Given the description of an element on the screen output the (x, y) to click on. 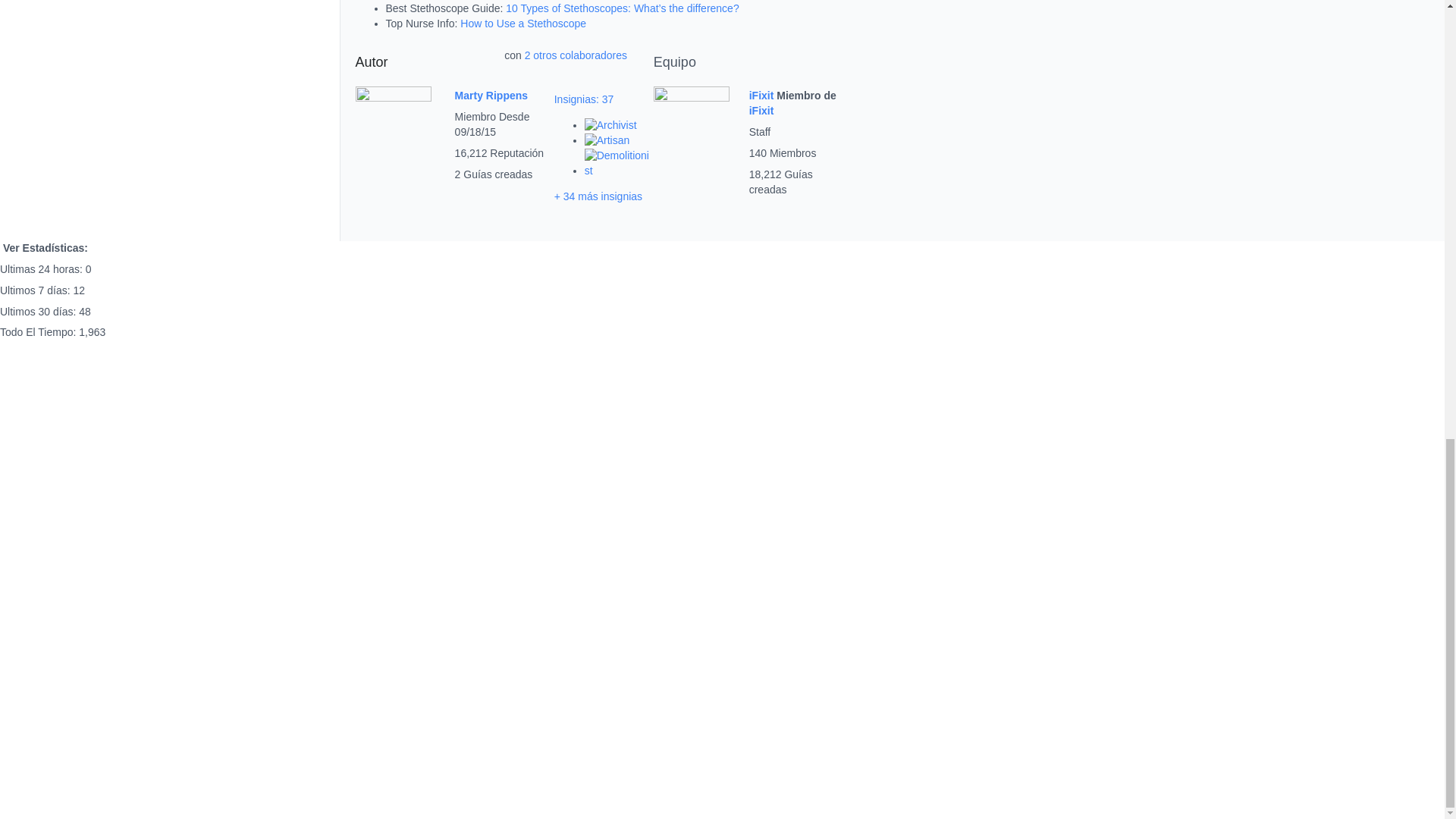
iFixit (761, 110)
2 otros colaboradores (575, 55)
How to Use a Stethoscope (523, 23)
Insignias: 37 (584, 99)
Autor (371, 61)
iFixit (763, 95)
Marty Rippens (490, 95)
Crear un teardown destacado (619, 170)
